Given the description of an element on the screen output the (x, y) to click on. 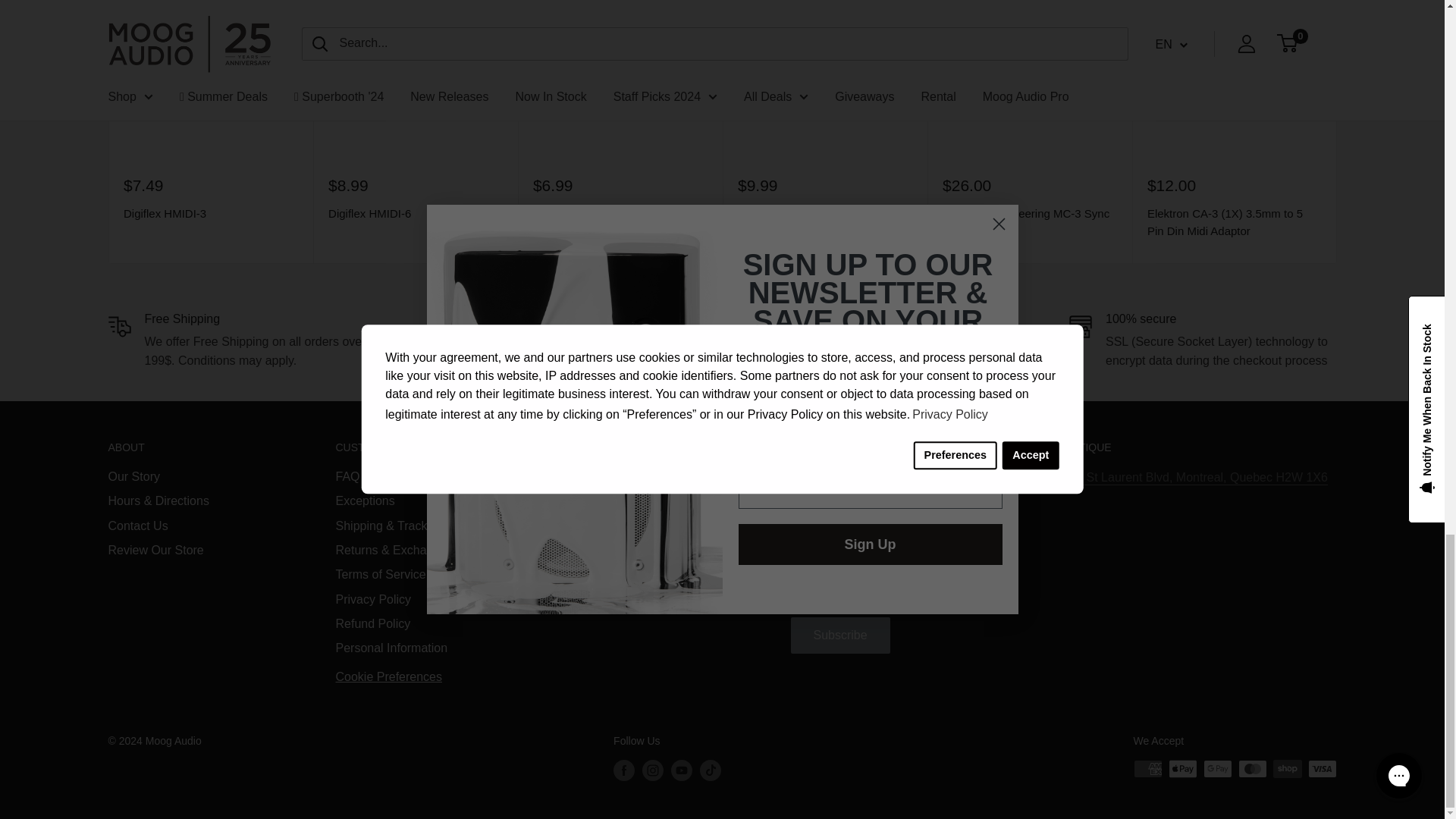
Gift Cards (574, 350)
